Given the description of an element on the screen output the (x, y) to click on. 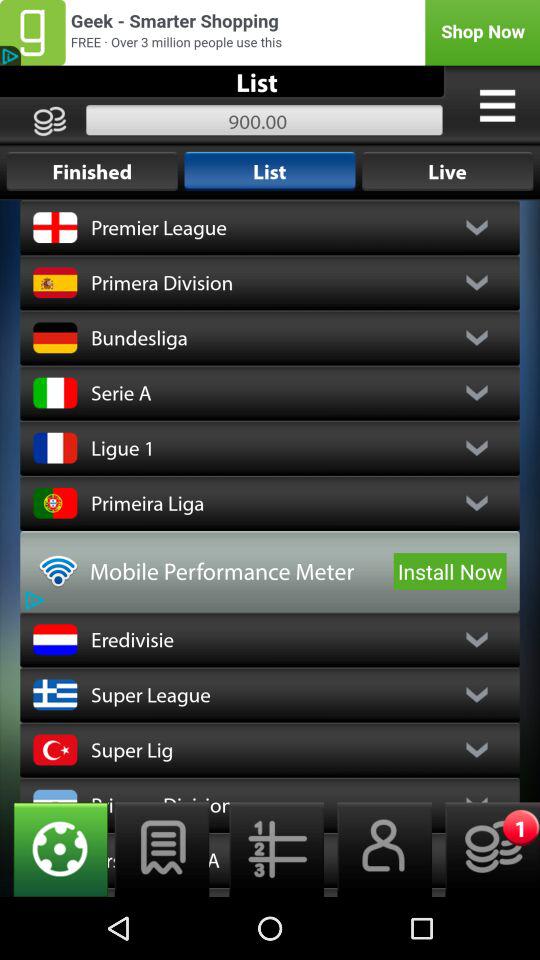
settings button (54, 849)
